Given the description of an element on the screen output the (x, y) to click on. 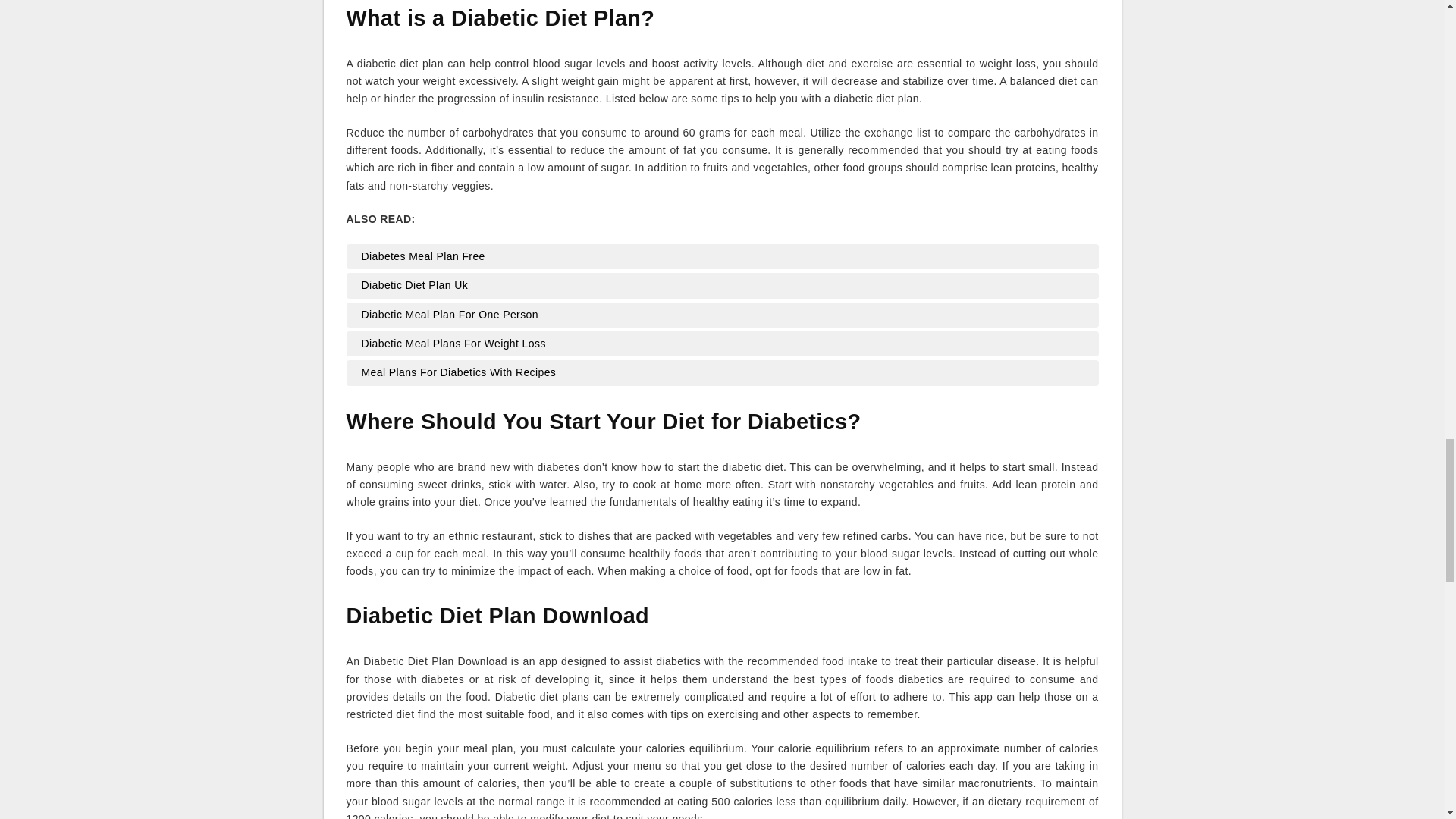
Diabetes Meal Plan Free (721, 256)
Diabetic Meal Plan For One Person (721, 314)
Diabetic Meal Plans For Weight Loss (721, 343)
Meal Plans For Diabetics With Recipes (721, 372)
Diabetic Diet Plan Uk (721, 285)
